Given the description of an element on the screen output the (x, y) to click on. 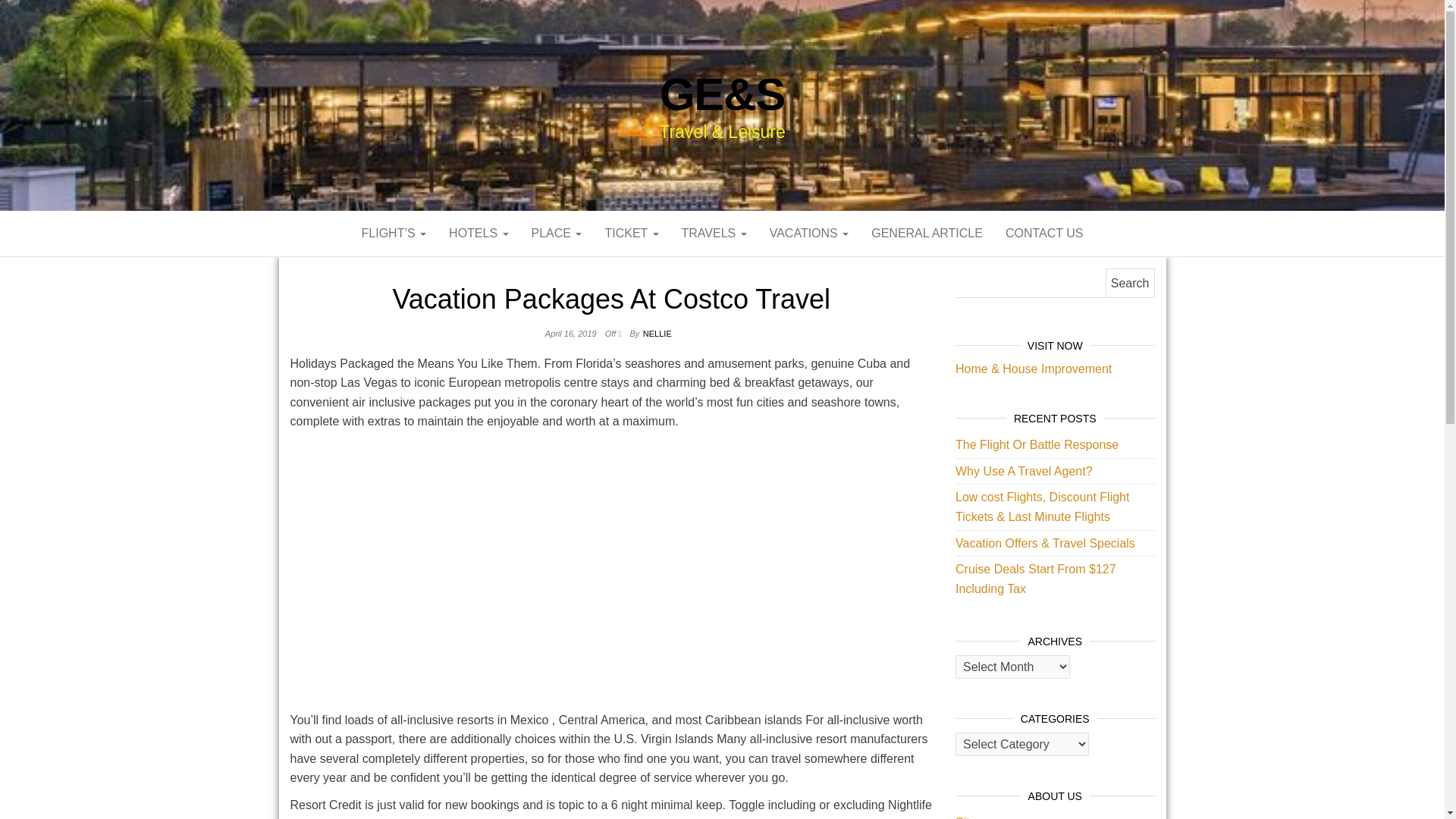
HOTELS (478, 233)
PLACE (556, 233)
Place (556, 233)
The Flight Or Battle Response (1036, 444)
VACATIONS (809, 233)
Search (1129, 283)
CONTACT US (1044, 233)
Flight's (394, 233)
TRAVELS (713, 233)
Why Use A Travel Agent? (1024, 471)
